Given the description of an element on the screen output the (x, y) to click on. 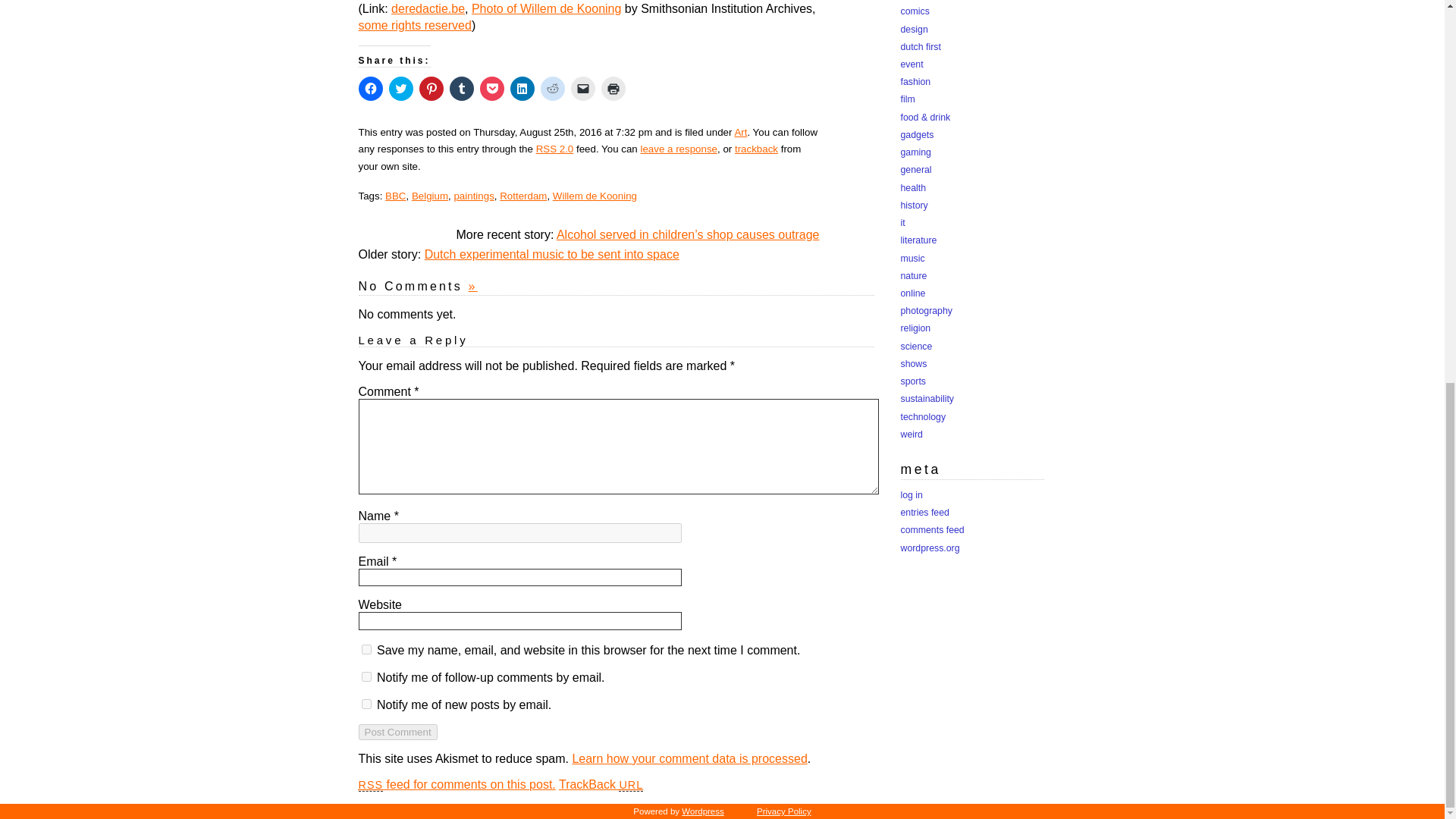
subscribe (366, 704)
Post Comment (397, 731)
Art (739, 132)
RSS 2.0 (554, 148)
BBC (395, 194)
paintings (472, 194)
Photo of Willem de Kooning (546, 8)
Dutch experimental music to be sent into space (552, 254)
yes (366, 649)
Willem de Kooning (595, 194)
deredactie.be (427, 8)
Belgium (430, 194)
subscribe (366, 676)
trackback (756, 148)
some rights reserved (414, 24)
